Given the description of an element on the screen output the (x, y) to click on. 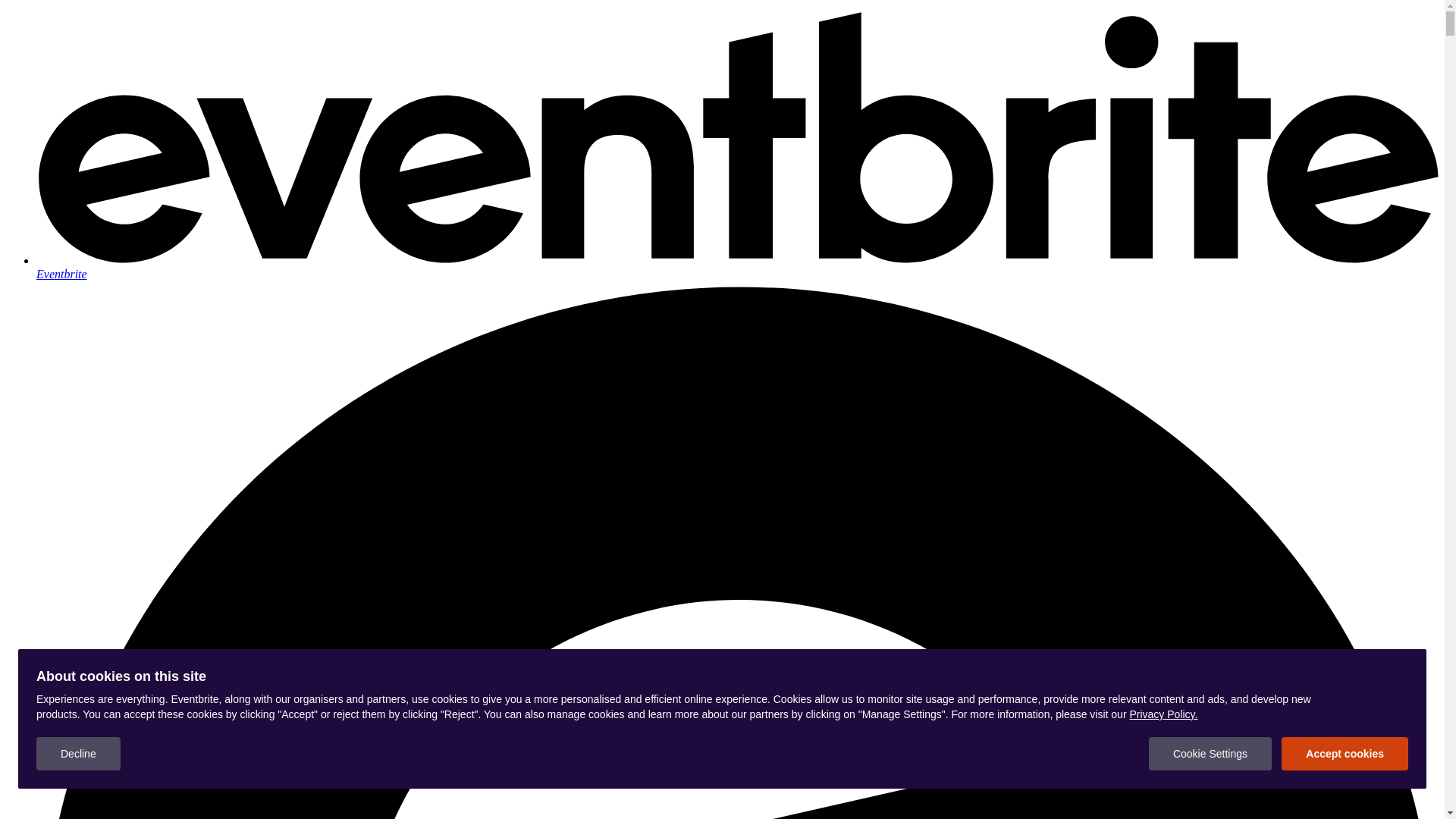
Eventbrite Element type: text (737, 267)
Decline Element type: text (78, 753)
Cookie Settings Element type: text (1209, 753)
Accept cookies Element type: text (1344, 753)
Privacy Policy. Element type: text (1163, 714)
